Given the description of an element on the screen output the (x, y) to click on. 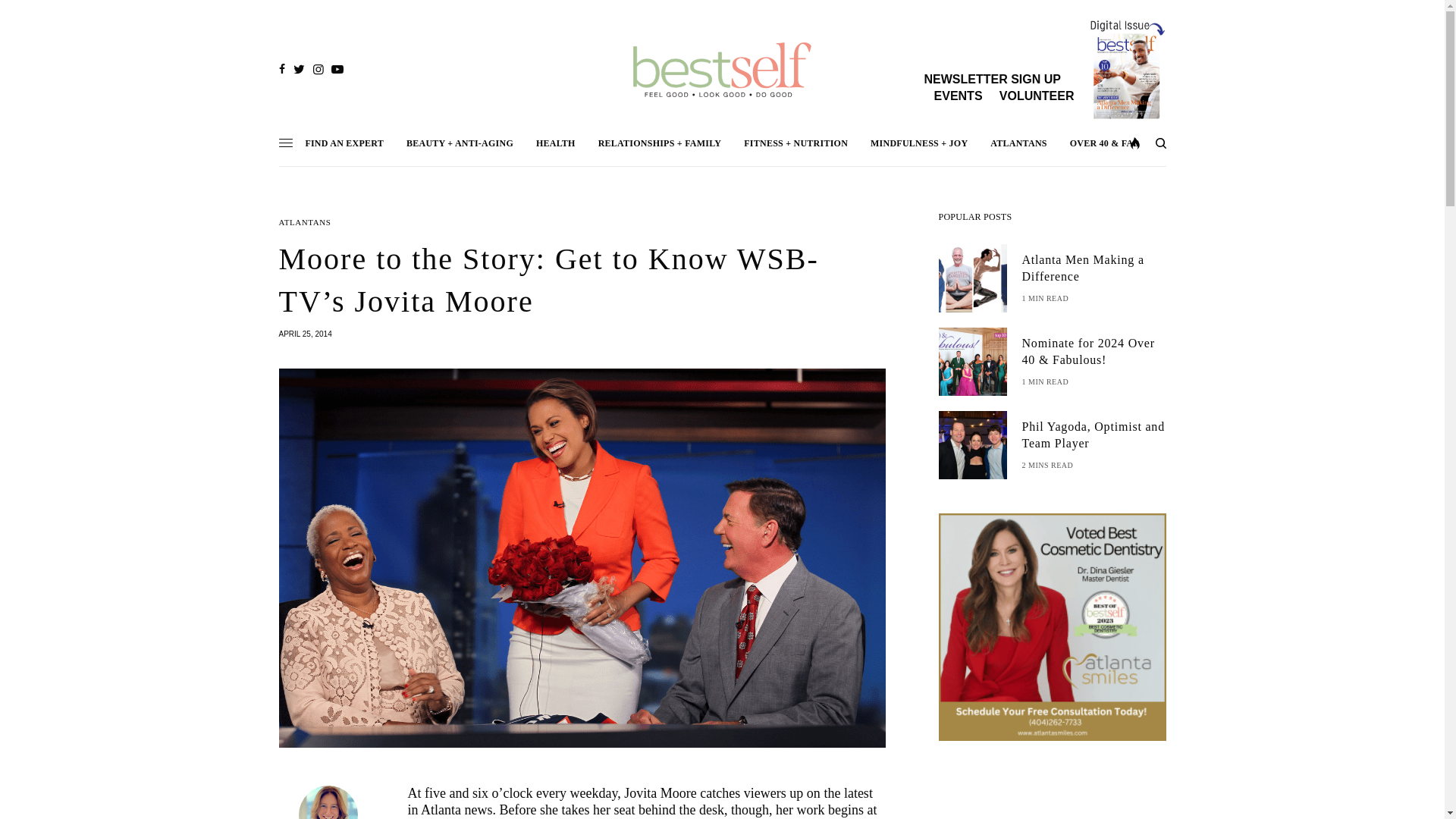
Atlanta Men Making a Difference (1094, 268)
VOLUNTEER (1036, 95)
NEWSLETTER SIGN UP (991, 78)
EVENTS (958, 95)
Best Self Atlanta (721, 69)
FIND AN EXPERT (344, 143)
Phil Yagoda, Optimist and Team Player (1094, 435)
ATLANTANS (305, 222)
ATLANTANS (1018, 143)
